Given the description of an element on the screen output the (x, y) to click on. 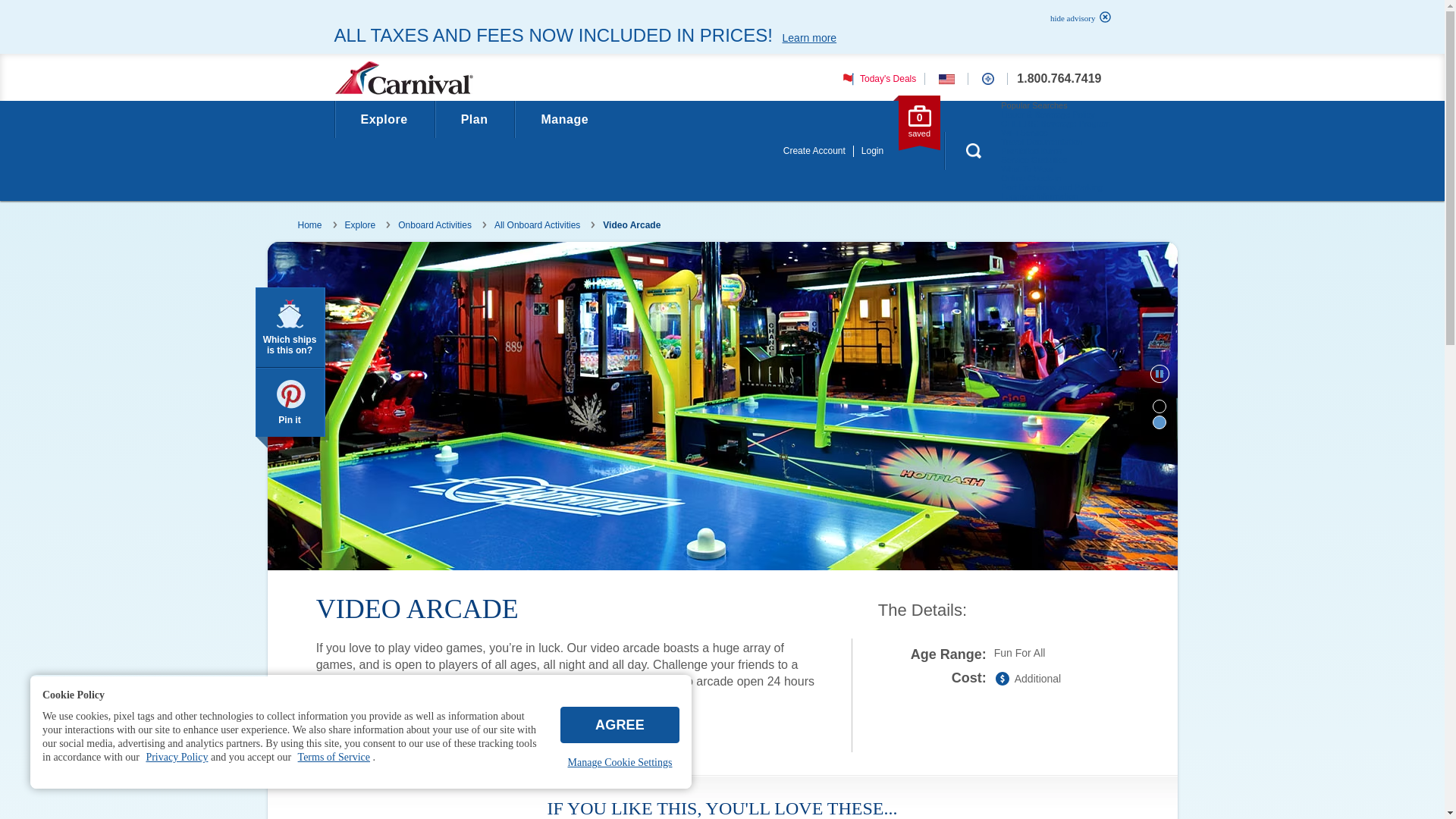
Rotate Next Slides (1147, 809)
hide advisory (1076, 18)
Today's Deals (876, 78)
Explore (383, 119)
Learn more (809, 38)
1.800.764.7419 (1058, 78)
